Given the description of an element on the screen output the (x, y) to click on. 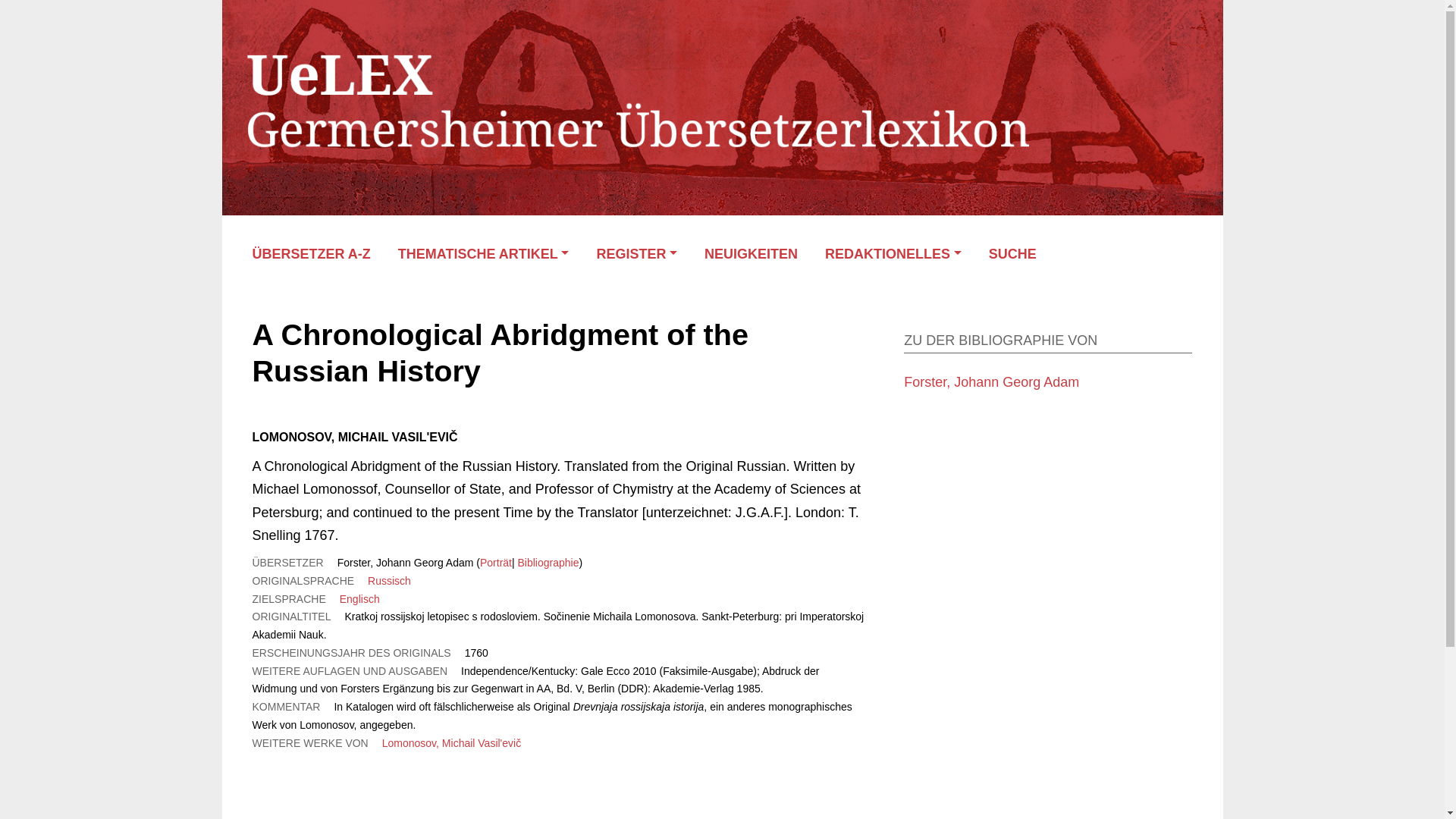
Forster, Johann Georg Adam (991, 381)
REGISTER (636, 254)
Russisch (389, 580)
Open OES Search Panel (1020, 254)
THEMATISCHE ARTIKEL (483, 254)
NEUIGKEITEN (750, 254)
Bibliographie (547, 562)
REDAKTIONELLES (892, 254)
Englisch (359, 598)
SUCHE (1020, 254)
